Given the description of an element on the screen output the (x, y) to click on. 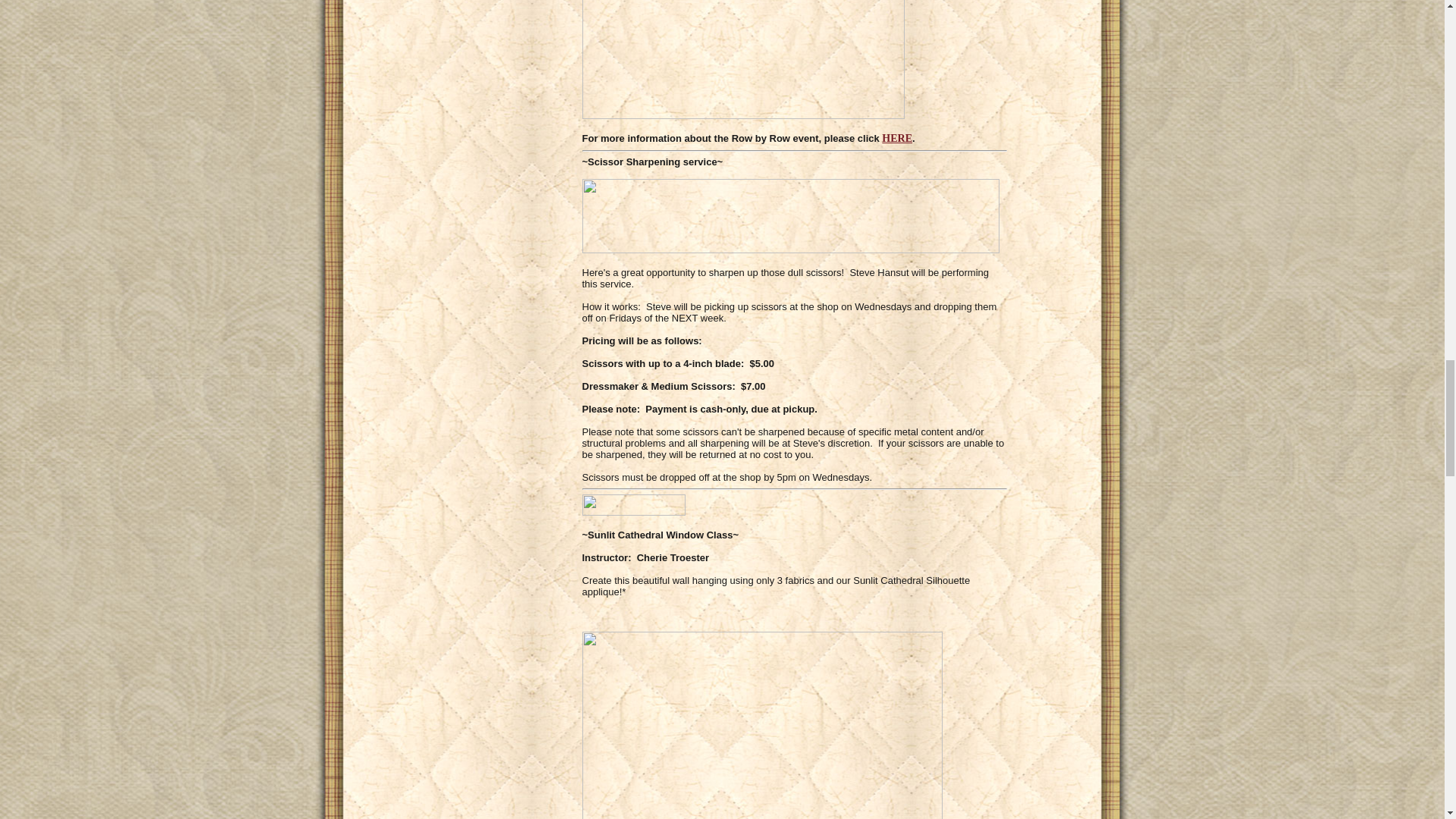
HERE (897, 138)
